Given the description of an element on the screen output the (x, y) to click on. 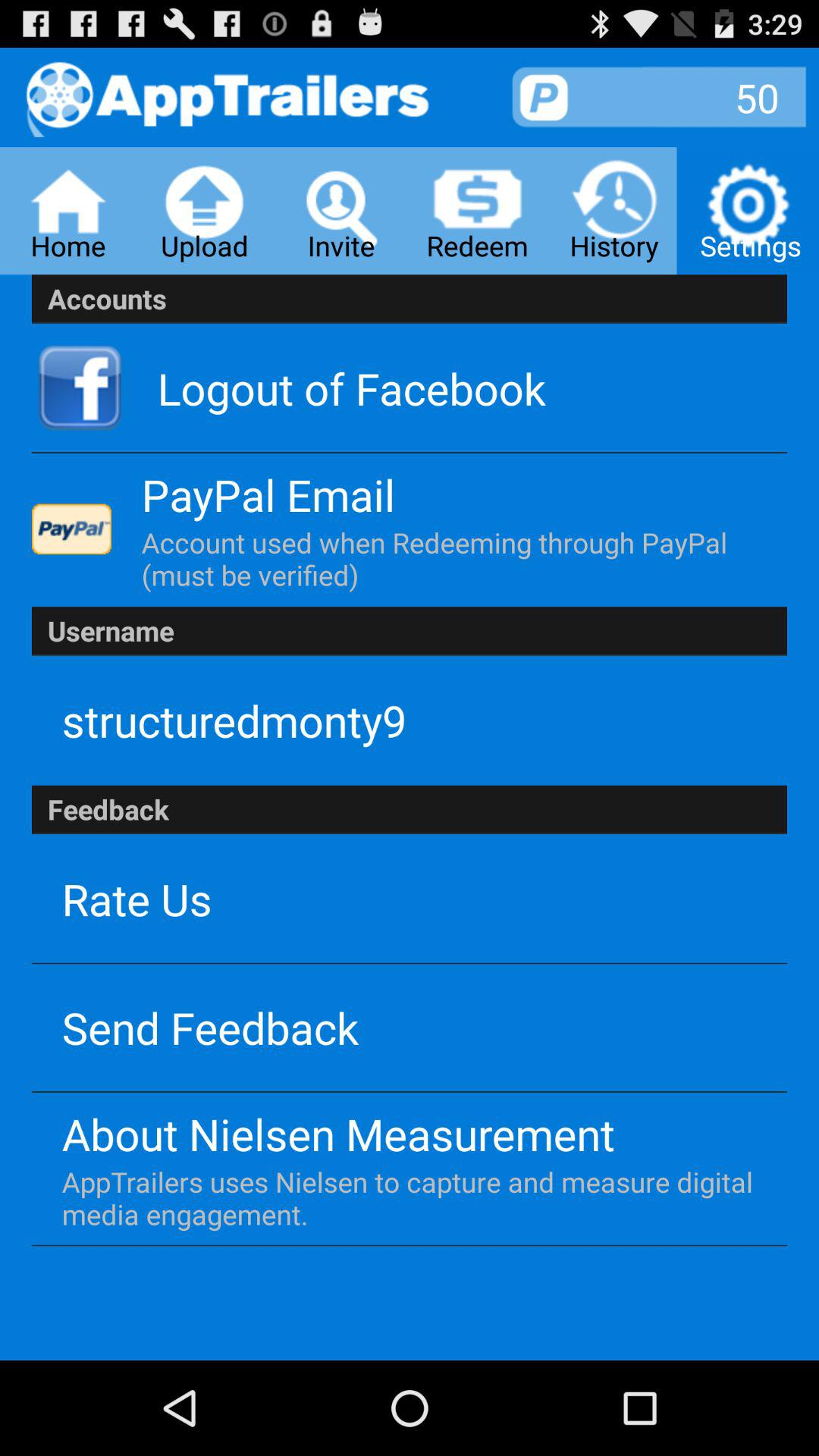
tap username app (409, 630)
